Given the description of an element on the screen output the (x, y) to click on. 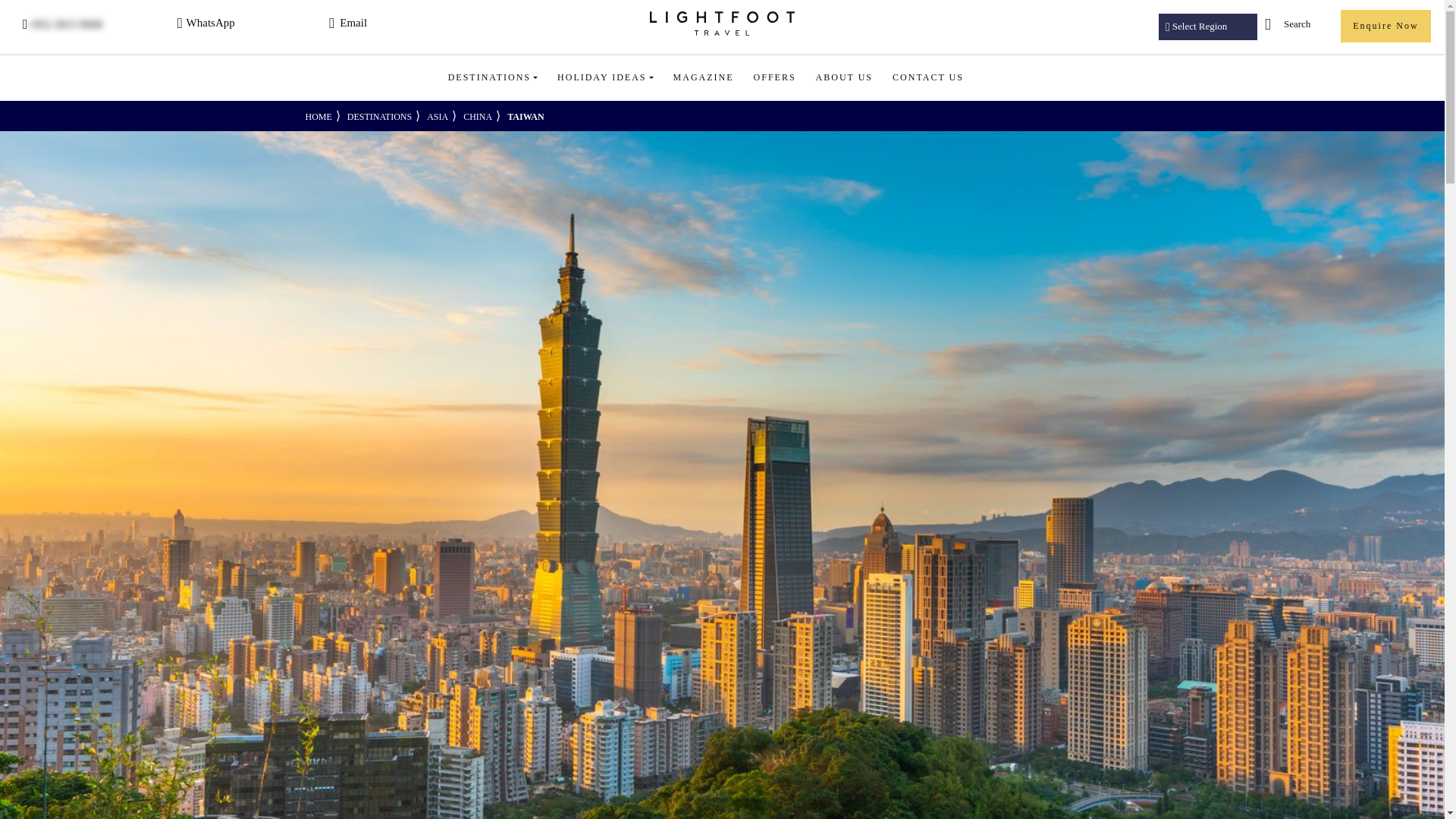
Search (1275, 23)
Email (400, 23)
DESTINATIONS (492, 77)
Enquire Now (1385, 25)
Lightfoottravel Logo (721, 23)
WhatsApp (250, 23)
